Given the description of an element on the screen output the (x, y) to click on. 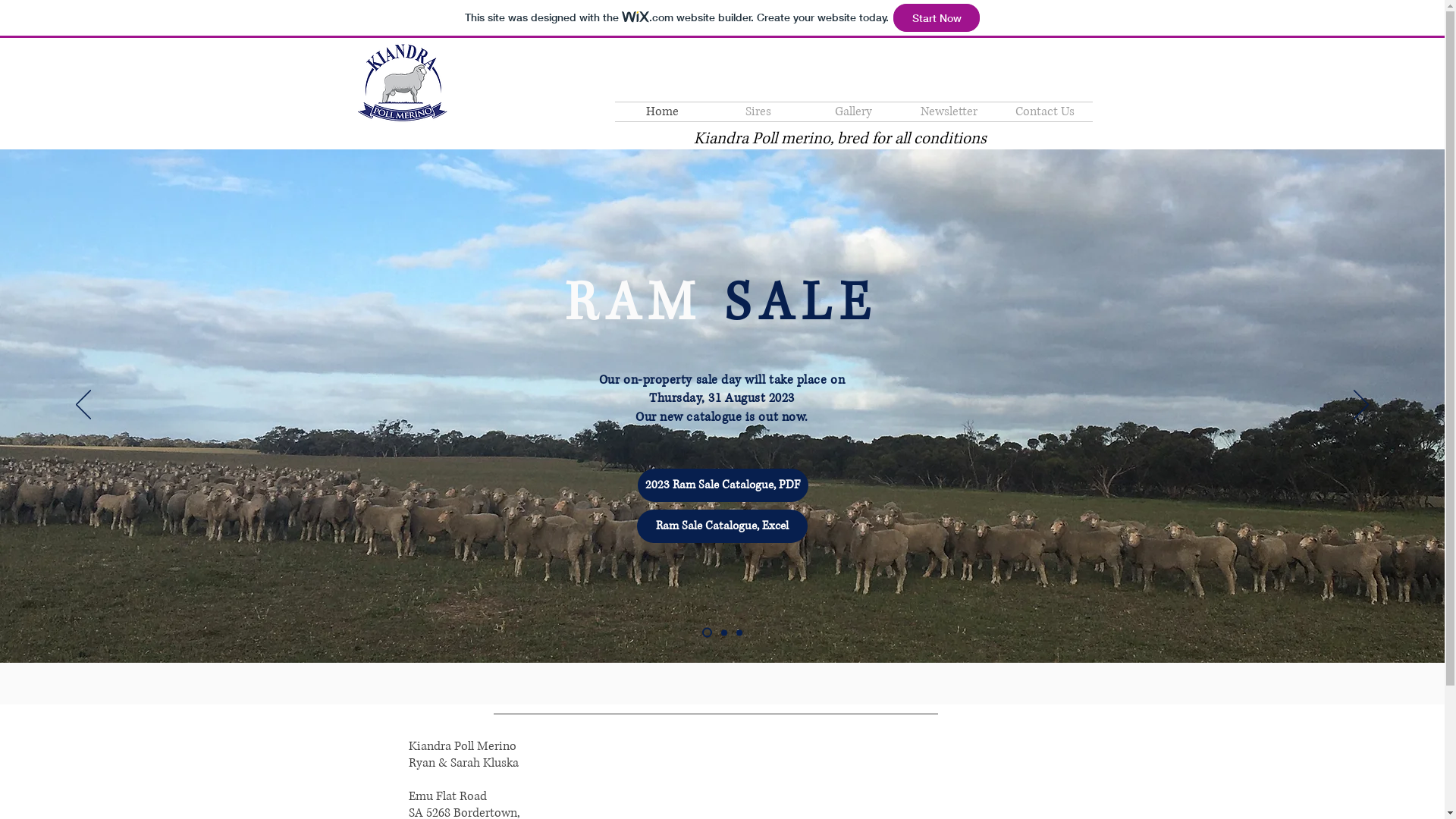
Sires Element type: text (757, 111)
2023 Ram Sale Catalogue, PDF Element type: text (722, 485)
Contact Us Element type: text (1044, 111)
Ram Sale Catalogue, Excel Element type: text (722, 525)
Gallery Element type: text (852, 111)
Home Element type: text (661, 111)
Newsletter Element type: text (948, 111)
